Given the description of an element on the screen output the (x, y) to click on. 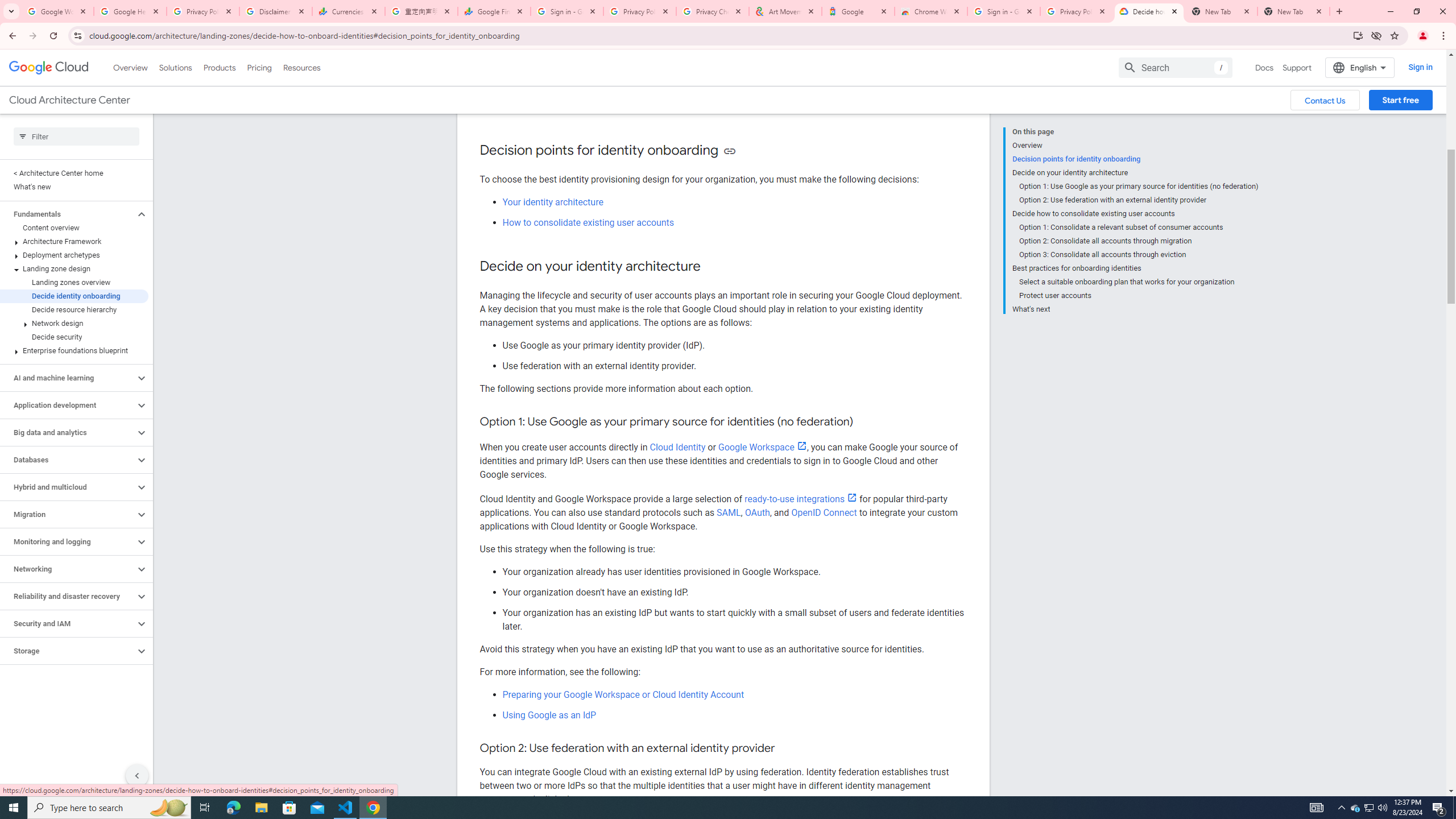
Docs, selected (1264, 67)
Pricing (259, 67)
Option 3: Consolidate all accounts through eviction (1138, 254)
Install Google Cloud (1358, 35)
Decision points for identity onboarding (1134, 159)
Decide identity onboarding (74, 296)
Decide on your identity architecture (1134, 172)
Solutions (175, 67)
AI and machine learning (67, 377)
Protect user accounts (1138, 295)
